Given the description of an element on the screen output the (x, y) to click on. 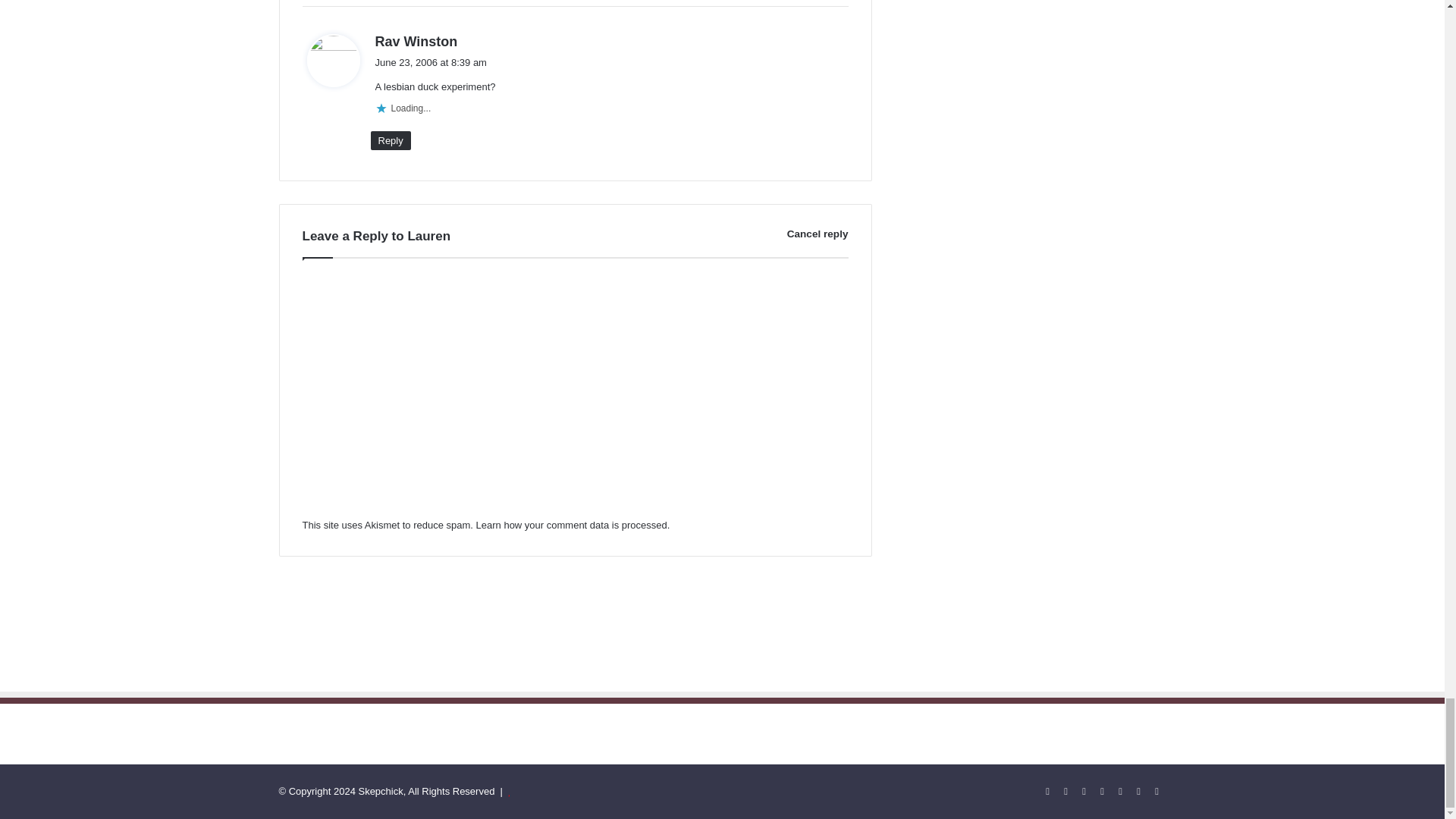
Comment Form (574, 392)
